Given the description of an element on the screen output the (x, y) to click on. 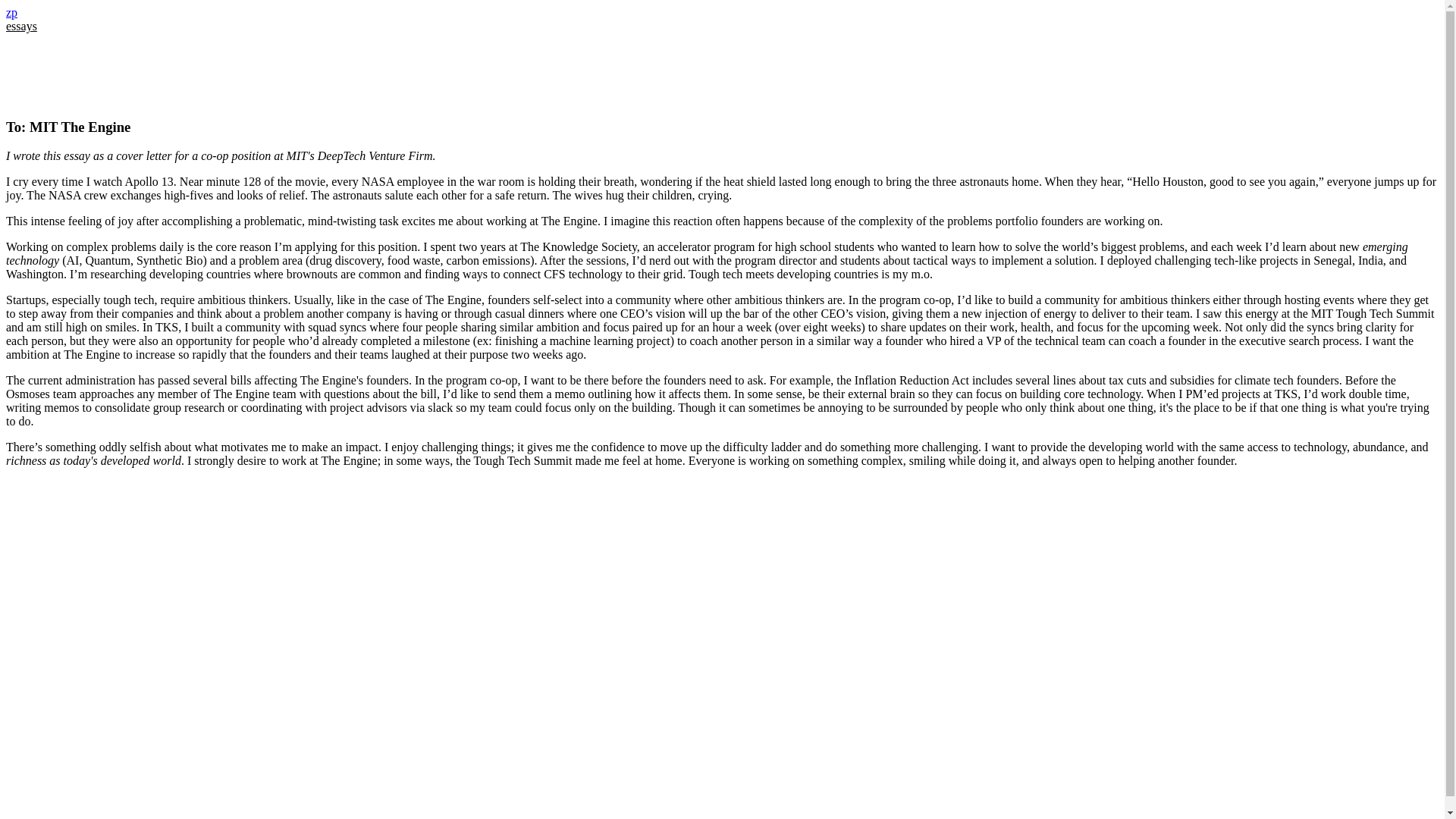
essays (21, 25)
